Given the description of an element on the screen output the (x, y) to click on. 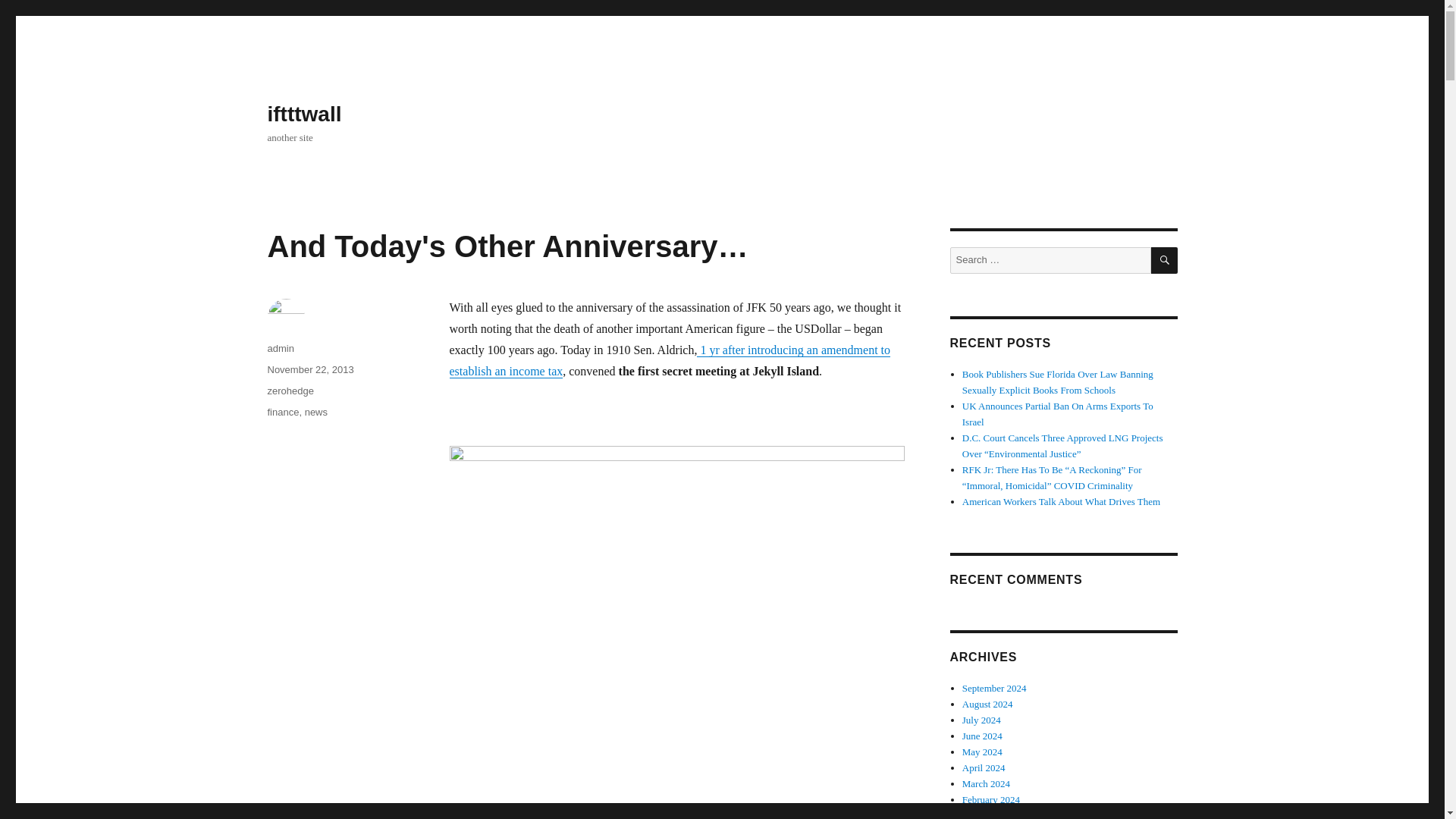
UK Announces Partial Ban On Arms Exports To Israel (1057, 413)
March 2024 (986, 783)
iftttwall (303, 114)
June 2024 (982, 736)
SEARCH (1164, 260)
January 2024 (988, 814)
November 22, 2013 (309, 369)
April 2024 (984, 767)
May 2024 (982, 751)
September 2024 (994, 687)
